Given the description of an element on the screen output the (x, y) to click on. 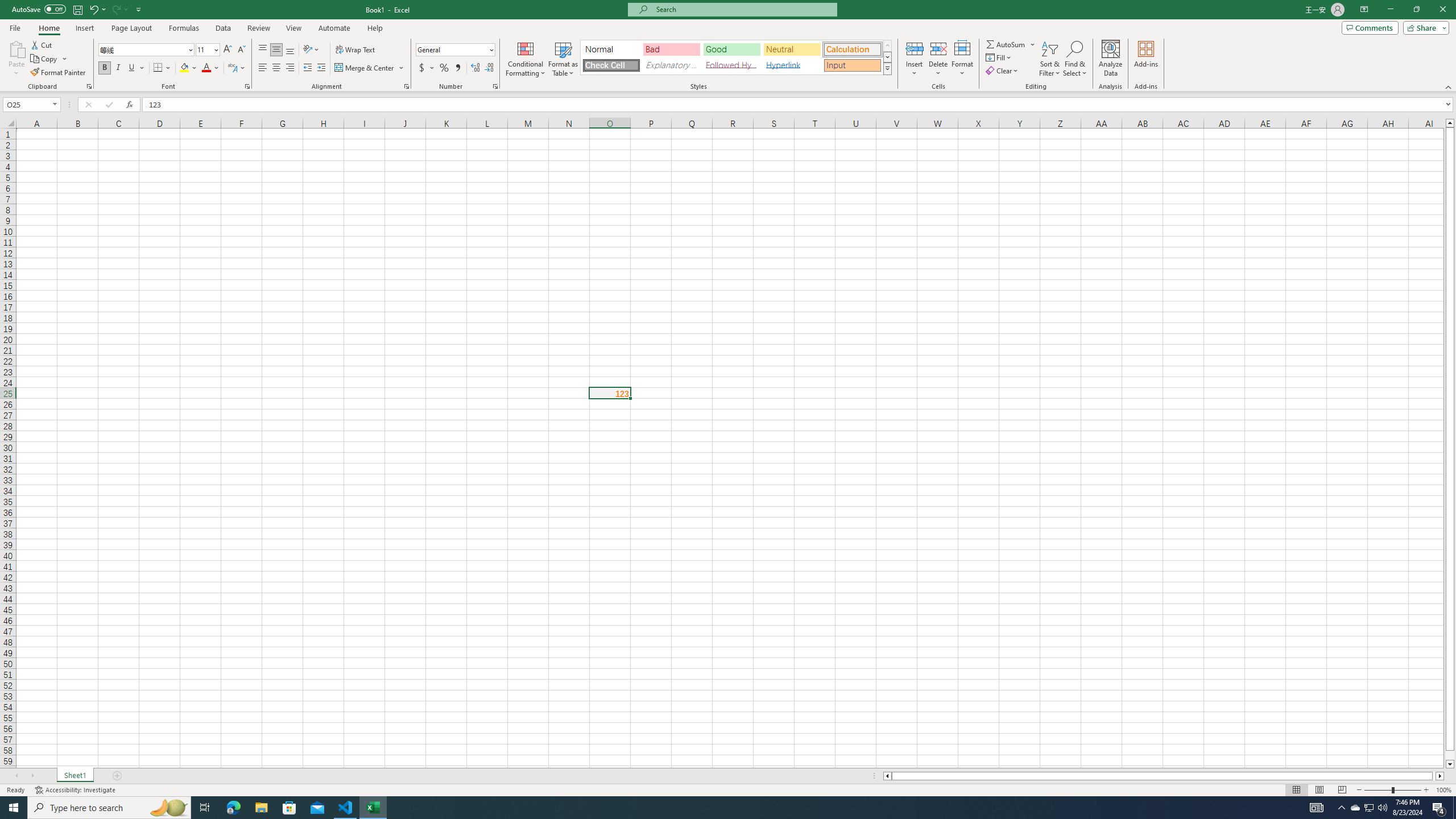
Font Color (210, 67)
Font Color RGB(255, 0, 0) (206, 67)
Merge & Center (369, 67)
Format as Table (563, 58)
Fill (999, 56)
Bad (671, 49)
Show Phonetic Field (231, 67)
